Given the description of an element on the screen output the (x, y) to click on. 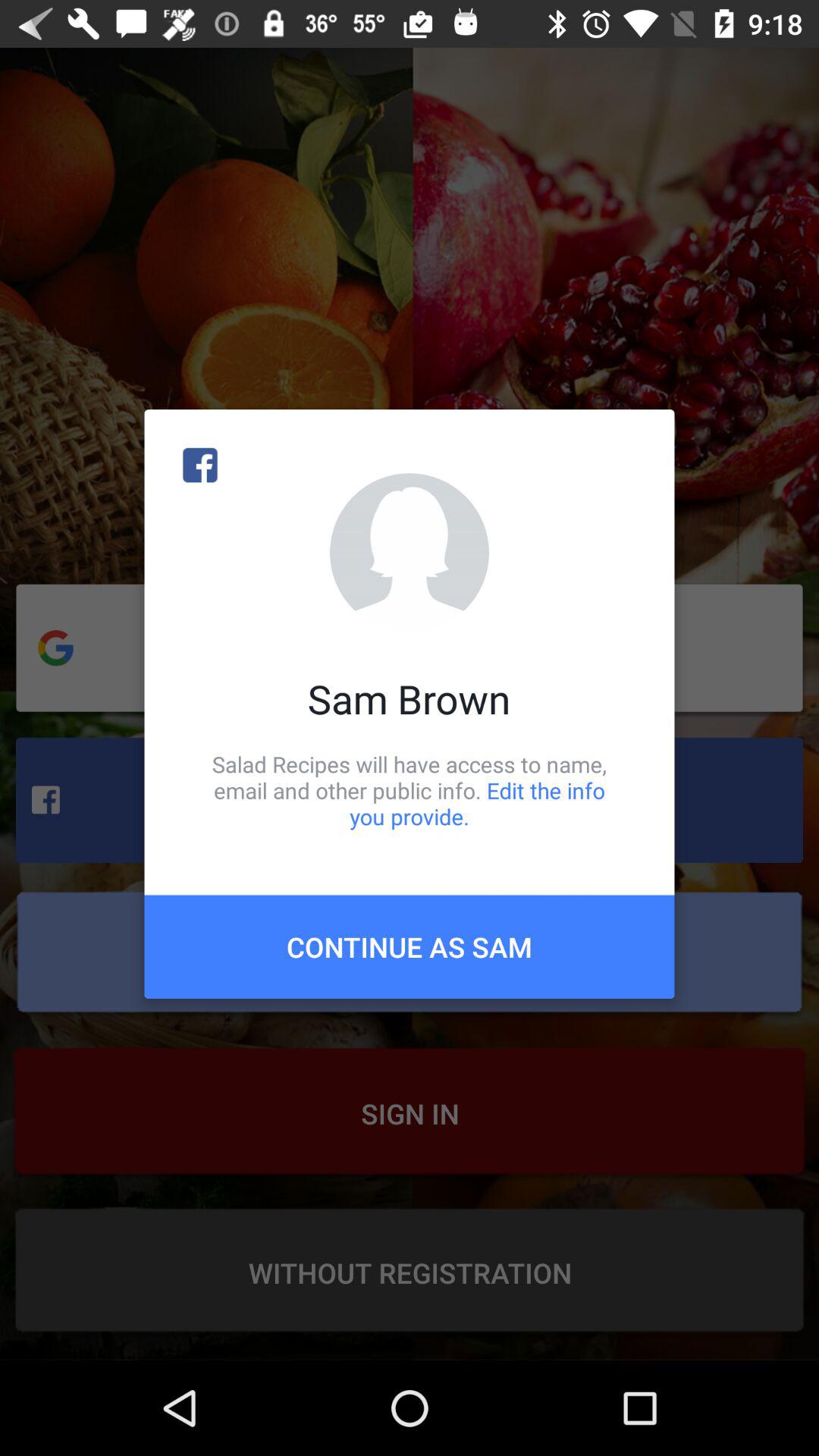
open item below the sam brown item (409, 790)
